Given the description of an element on the screen output the (x, y) to click on. 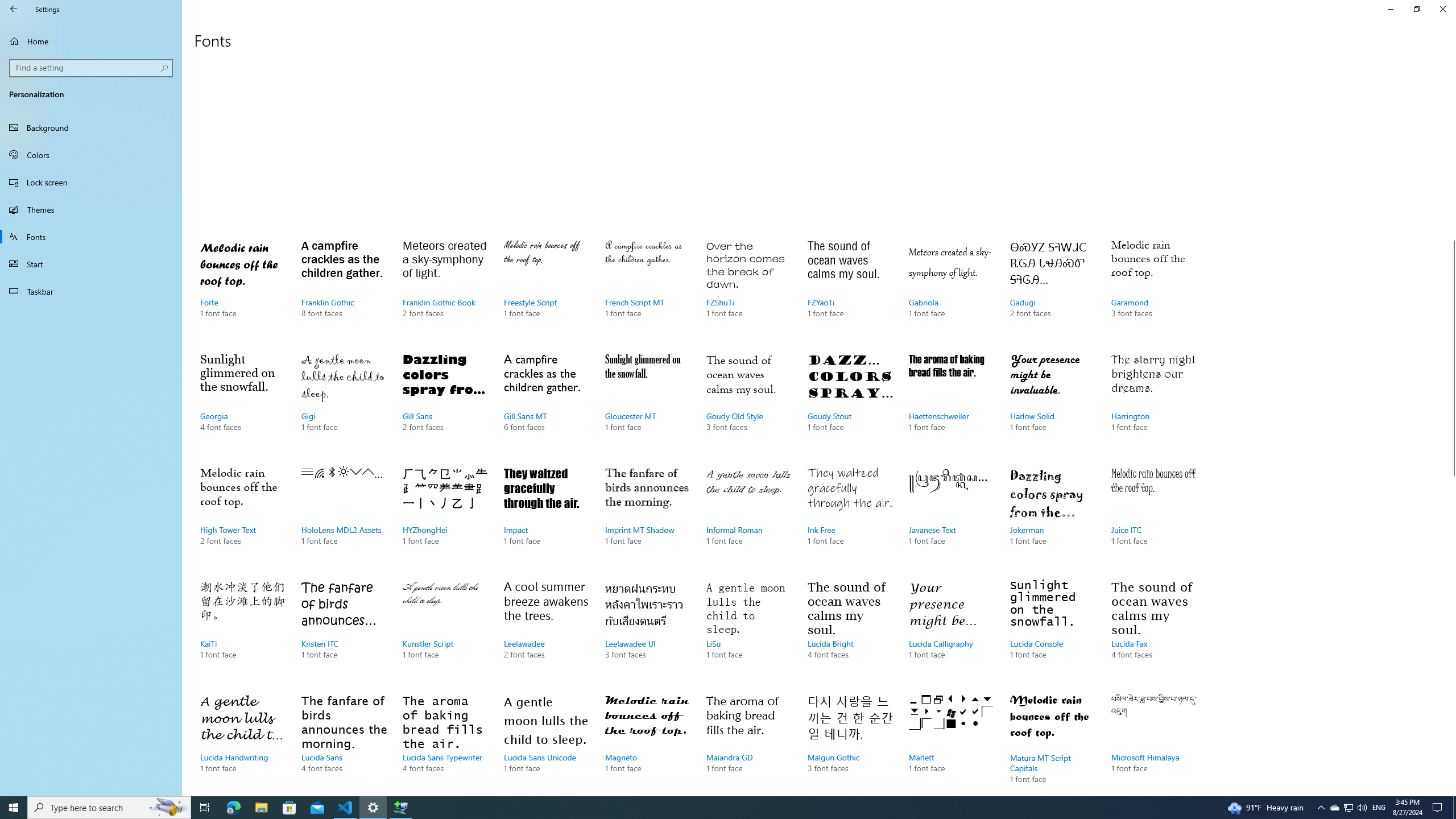
Q2790: 100% (1361, 807)
Harrington, 1 font face (1153, 403)
Maiandra GD, 1 font face (748, 741)
Search highlights icon opens search home window (167, 807)
High Tower Text, 2 font faces (243, 517)
KaiTi, 1 font face (1347, 807)
Visual Studio Code - 1 running window (243, 630)
Lucida Calligraphy, 1 font face (345, 807)
Colors (951, 630)
Minimize Settings (91, 154)
LiSu, 1 font face (1390, 9)
Show desktop (748, 630)
Type here to search (1454, 807)
